Given the description of an element on the screen output the (x, y) to click on. 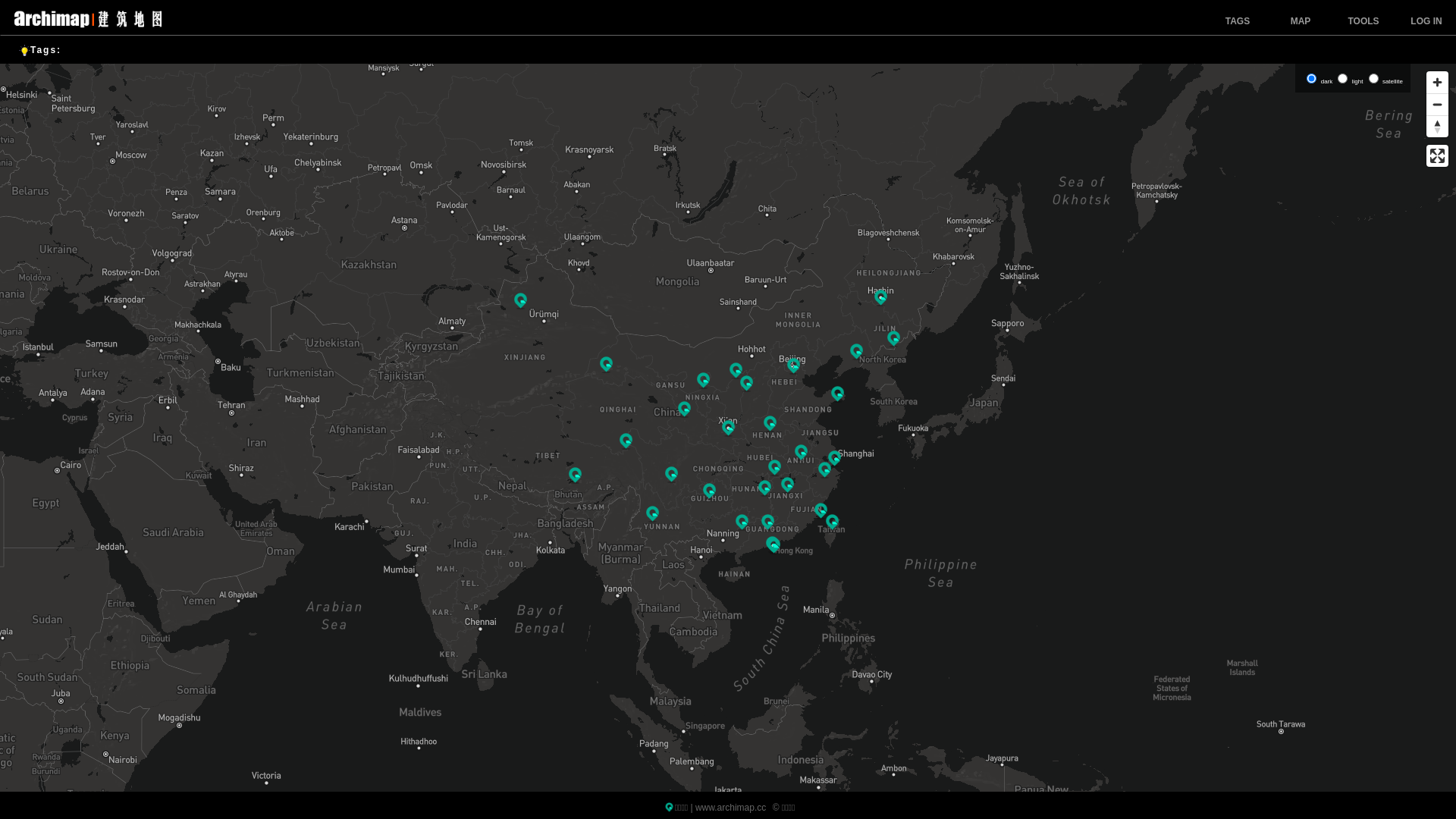
MAP Element type: text (1300, 20)
TOOLS Element type: text (1363, 20)
TAGS Element type: text (1237, 20)
LOG IN Element type: text (1426, 20)
